Given the description of an element on the screen output the (x, y) to click on. 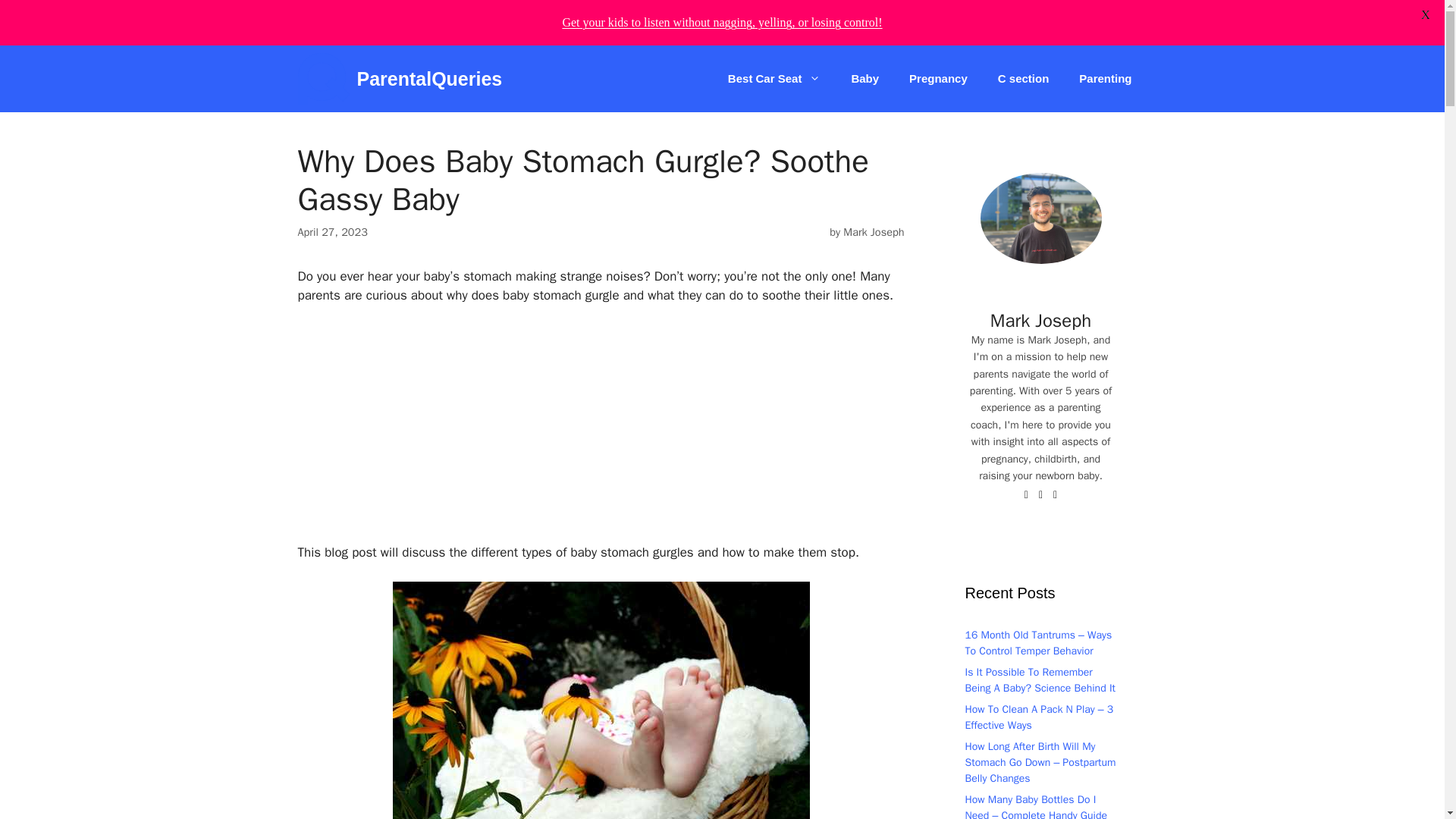
C section (1023, 78)
Mark Joseph (873, 232)
Pregnancy (937, 78)
ParentalQueries (323, 78)
ParentalQueries (429, 78)
Parenting (1105, 78)
Advertisement (600, 430)
Best Car Seat (774, 78)
View all posts by Mark Joseph (873, 232)
Baby (864, 78)
